Given the description of an element on the screen output the (x, y) to click on. 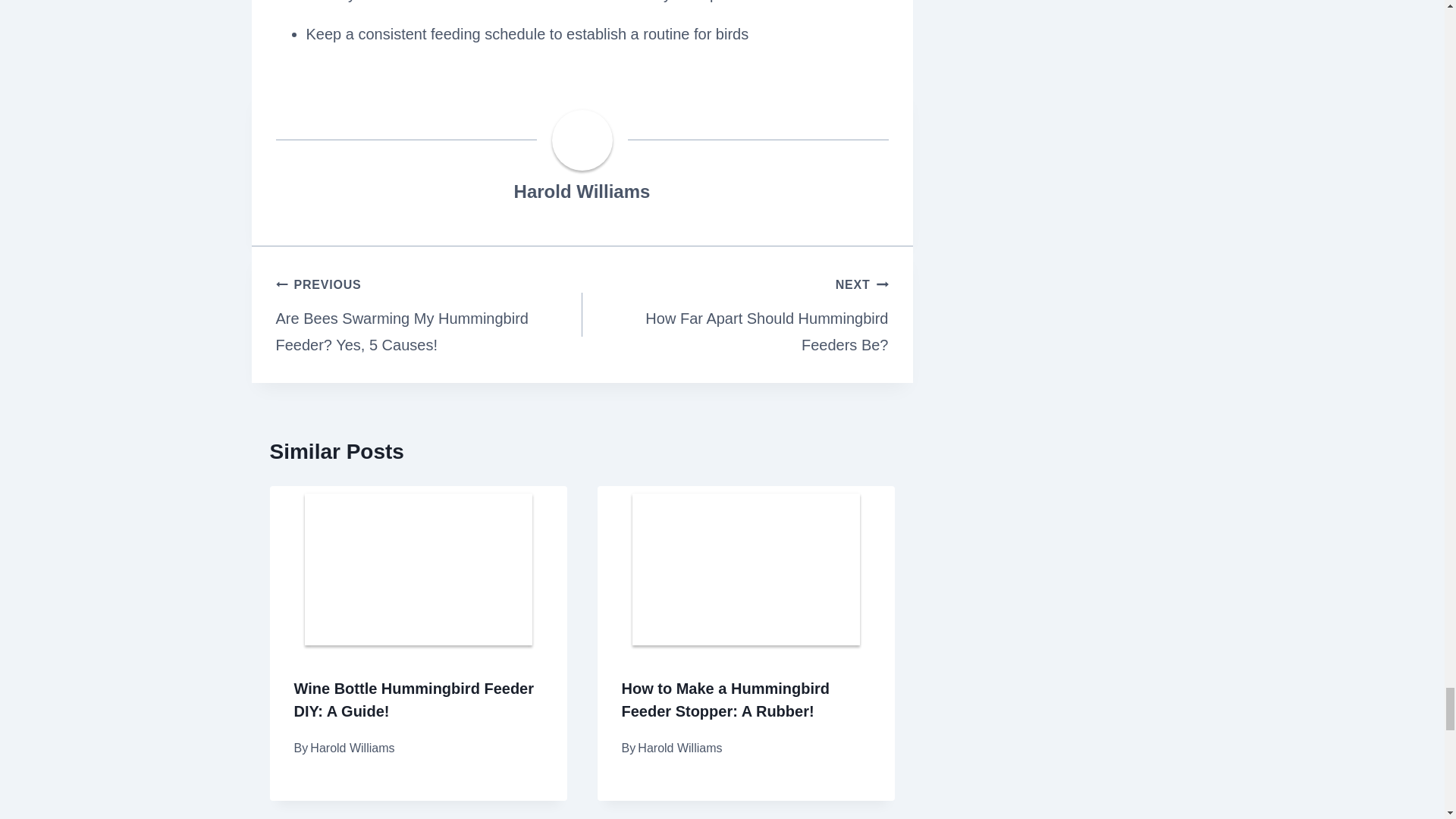
Harold Williams (581, 190)
